Given the description of an element on the screen output the (x, y) to click on. 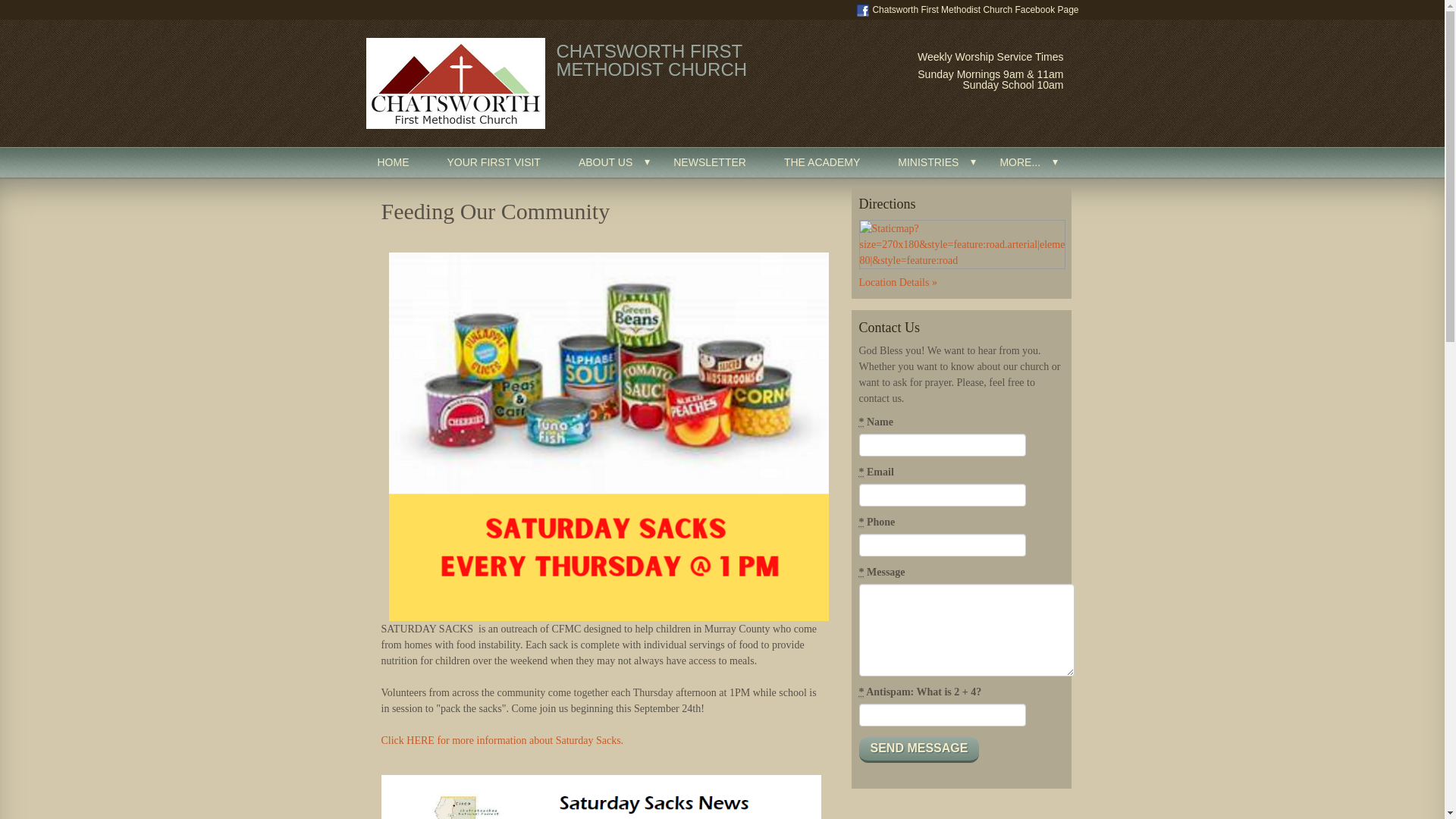
ABOUT US (606, 162)
Send Message (918, 749)
Send Message (918, 749)
Chatsworth First Methodist Church Facebook Page (967, 9)
Logo (454, 82)
MINISTRIES (929, 162)
Click to Follow Link (503, 740)
NEWSLETTER (709, 162)
CHATSWORTH FIRST METHODIST CHURCH (652, 59)
YOUR FIRST VISIT (493, 162)
